Given the description of an element on the screen output the (x, y) to click on. 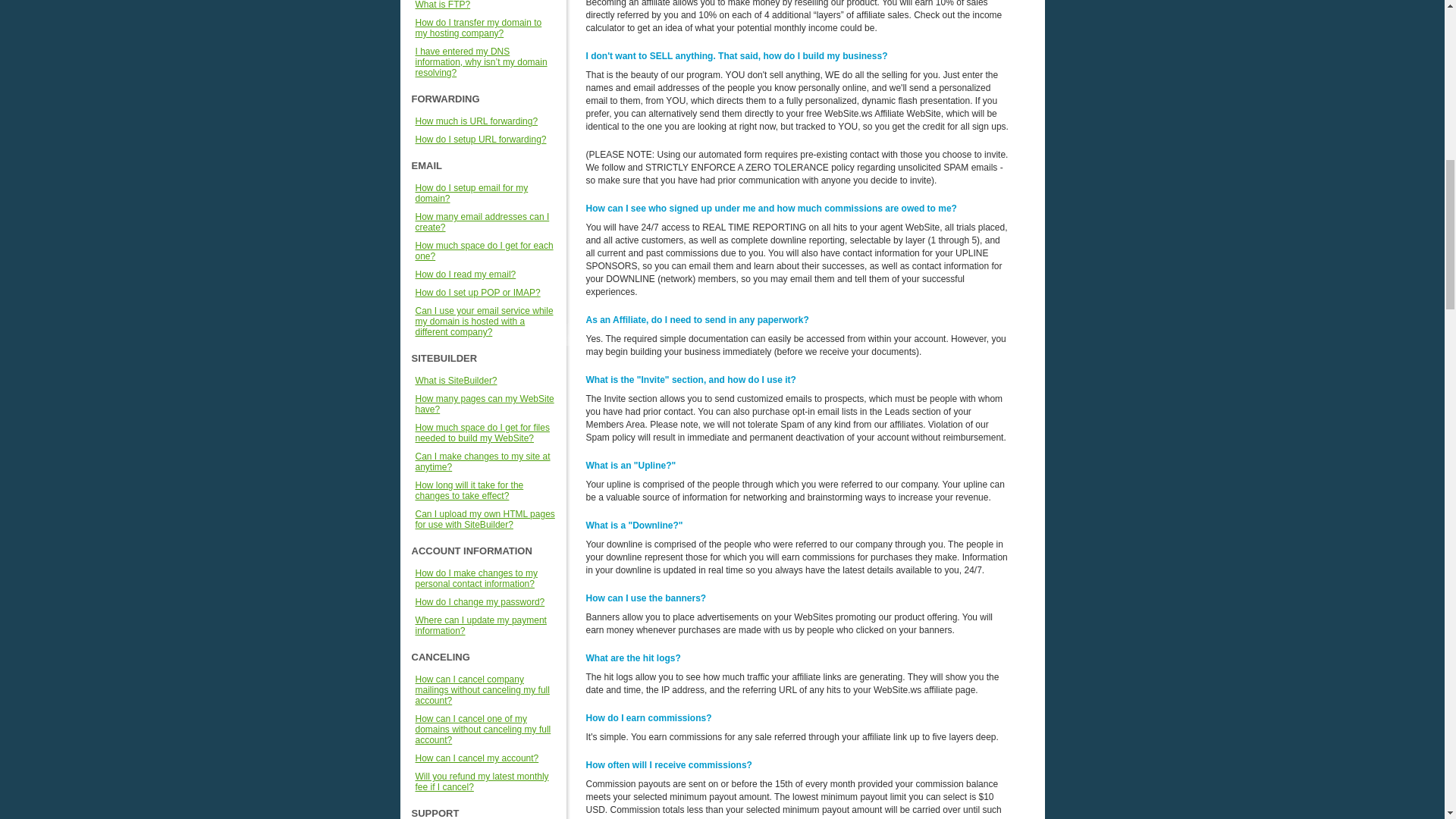
How much is URL forwarding? (476, 121)
How much space do I get for each one? (483, 250)
How do I transfer my domain to my hosting company? (477, 27)
What is FTP? (442, 4)
How do I read my email? (465, 274)
How many email addresses can I create? (482, 221)
How do I setup URL forwarding? (480, 139)
How do I setup email for my domain? (471, 192)
